Given the description of an element on the screen output the (x, y) to click on. 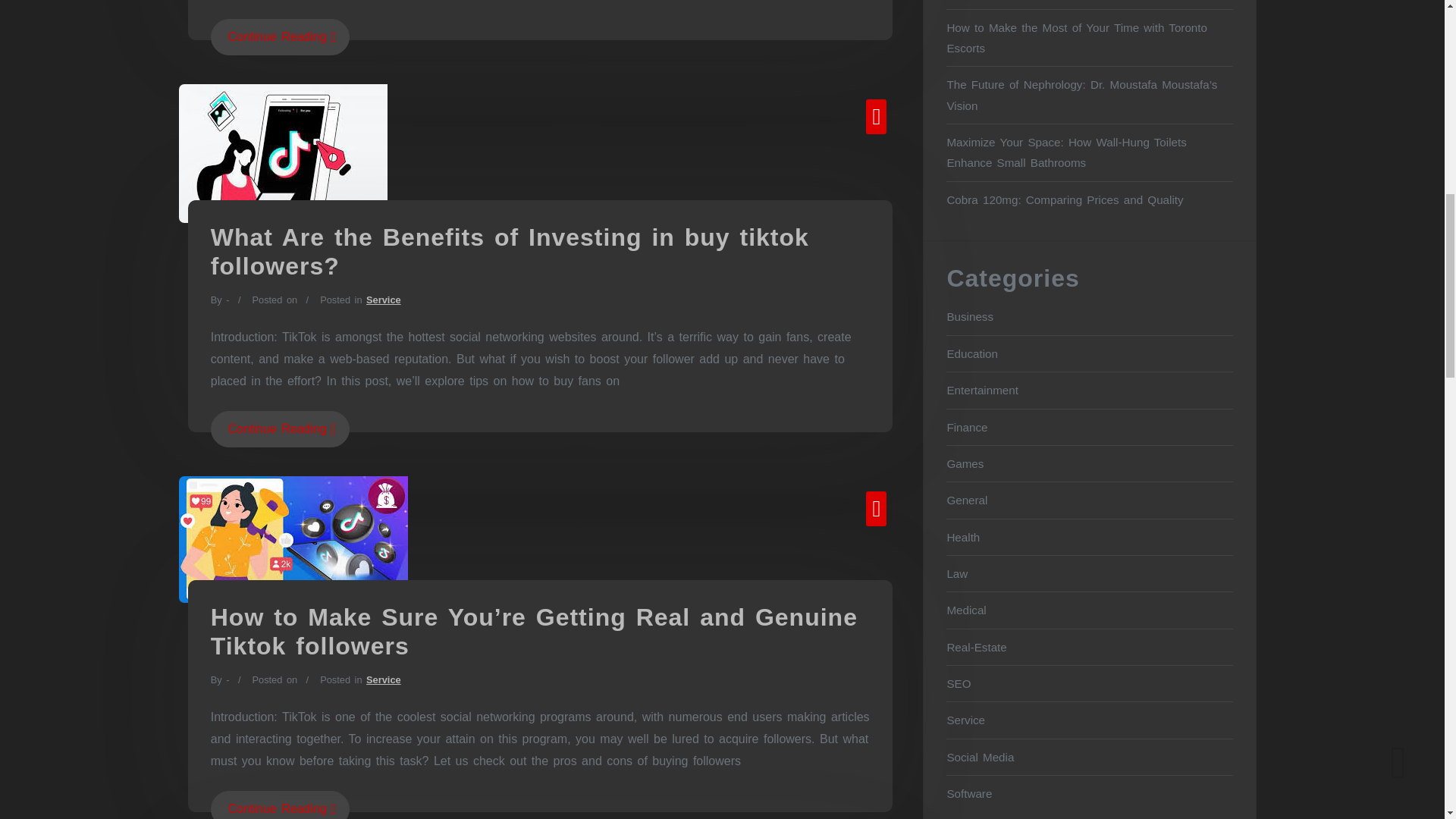
What Are the Benefits of Investing in buy tiktok followers? (510, 251)
Continue Reading (280, 36)
Service (383, 299)
Continue Reading (280, 805)
Continue Reading (280, 429)
Service (383, 679)
